Given the description of an element on the screen output the (x, y) to click on. 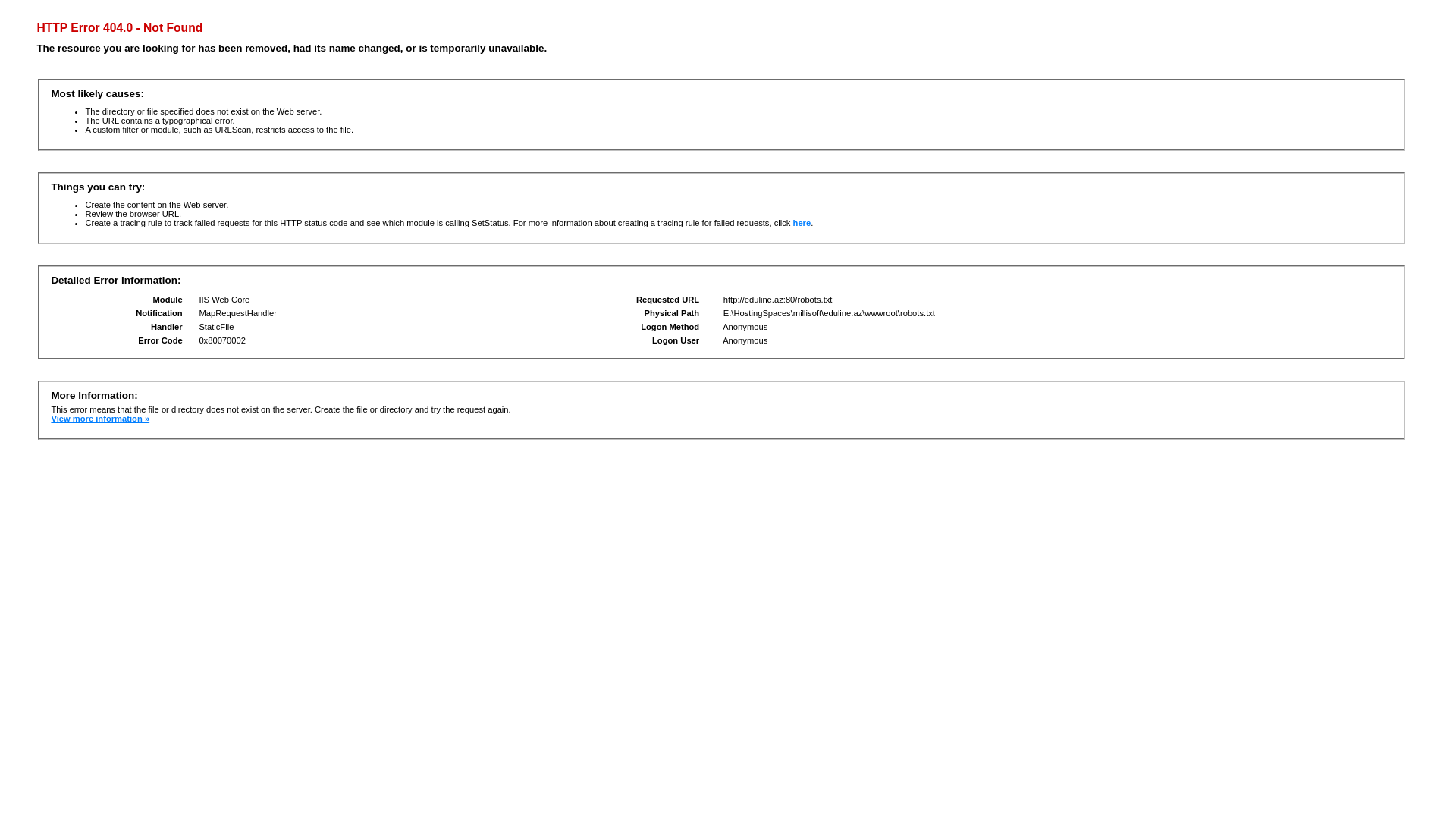
here Element type: text (802, 222)
